Given the description of an element on the screen output the (x, y) to click on. 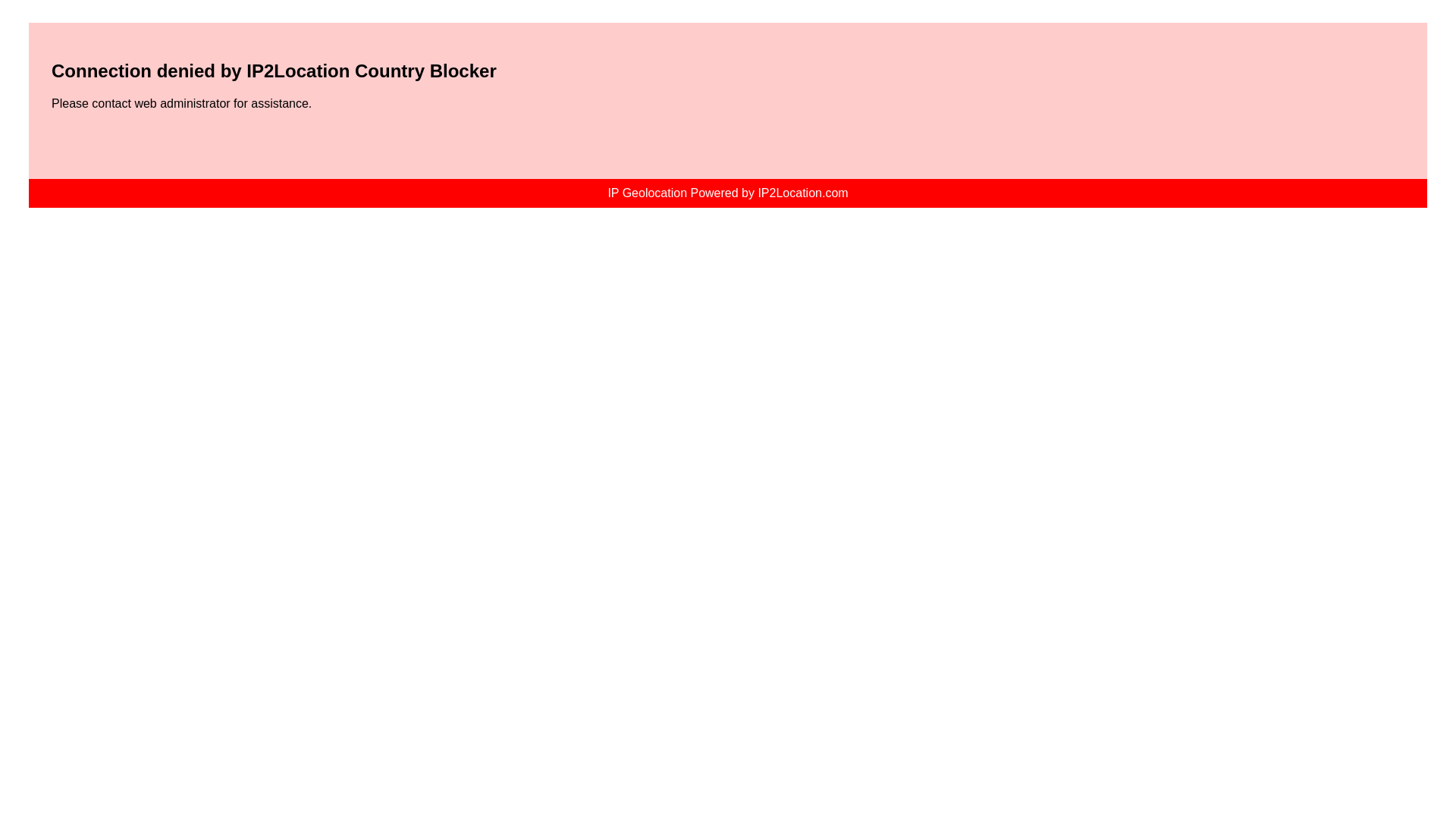
IP Geolocation Powered by IP2Location.com (727, 192)
